Given the description of an element on the screen output the (x, y) to click on. 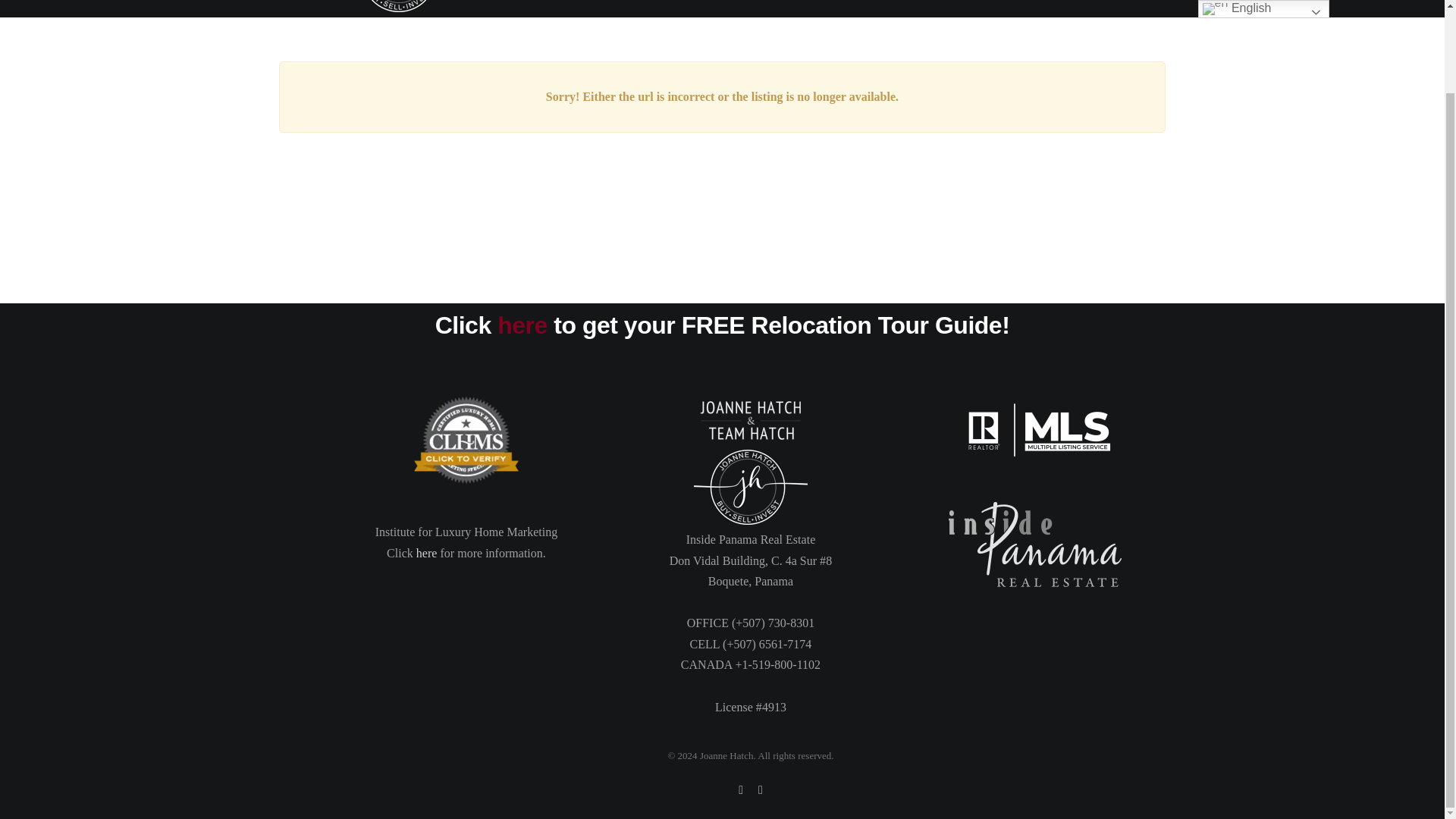
homes for sale in panama (465, 440)
Joanne Hatch Panama Real Estate (751, 486)
Joanne Hatch Panama Real Estate (751, 420)
Inside Panama Real Estate (1035, 544)
